Given the description of an element on the screen output the (x, y) to click on. 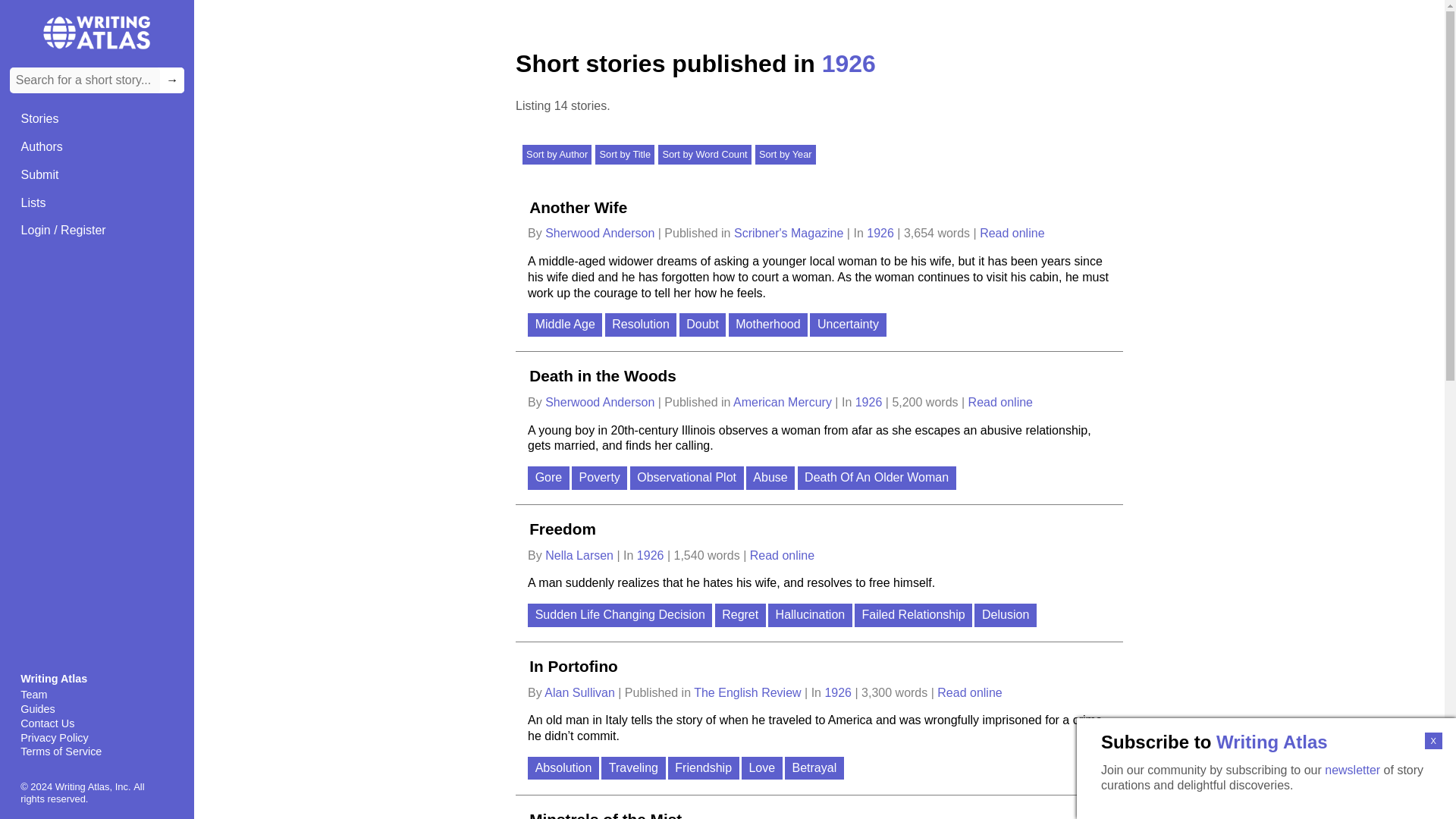
3,654 (919, 232)
1926 (881, 232)
Sherwood Anderson (601, 401)
Scribner's Magazine (790, 232)
Team (96, 694)
1926 (870, 401)
Freedom (561, 528)
Death Of An Older Woman (877, 479)
Resolution (642, 325)
Another Wife (577, 206)
